Given the description of an element on the screen output the (x, y) to click on. 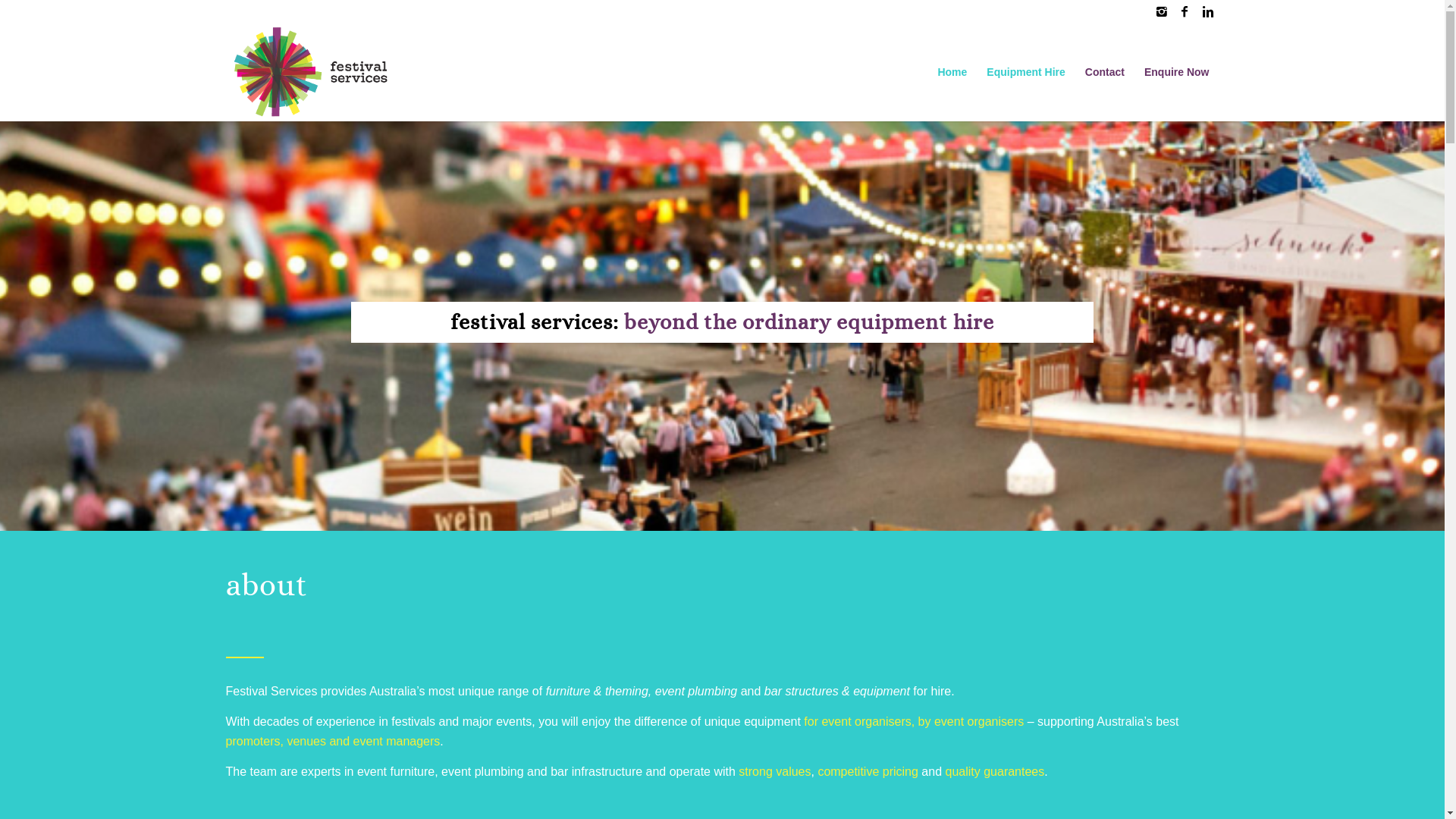
for event organisers, by event organisers Element type: text (913, 721)
Instagram Element type: hover (1162, 11)
competitive pricing Element type: text (867, 771)
Enquire Now Element type: text (1176, 71)
Facebook Element type: hover (1184, 11)
Linkedin Element type: hover (1207, 11)
Home Element type: text (951, 71)
Contact Element type: text (1104, 71)
Equipment Hire Element type: text (1025, 71)
promoters, venues and event managers Element type: text (332, 740)
quality guarantees Element type: text (994, 771)
strong values Element type: text (774, 771)
